Given the description of an element on the screen output the (x, y) to click on. 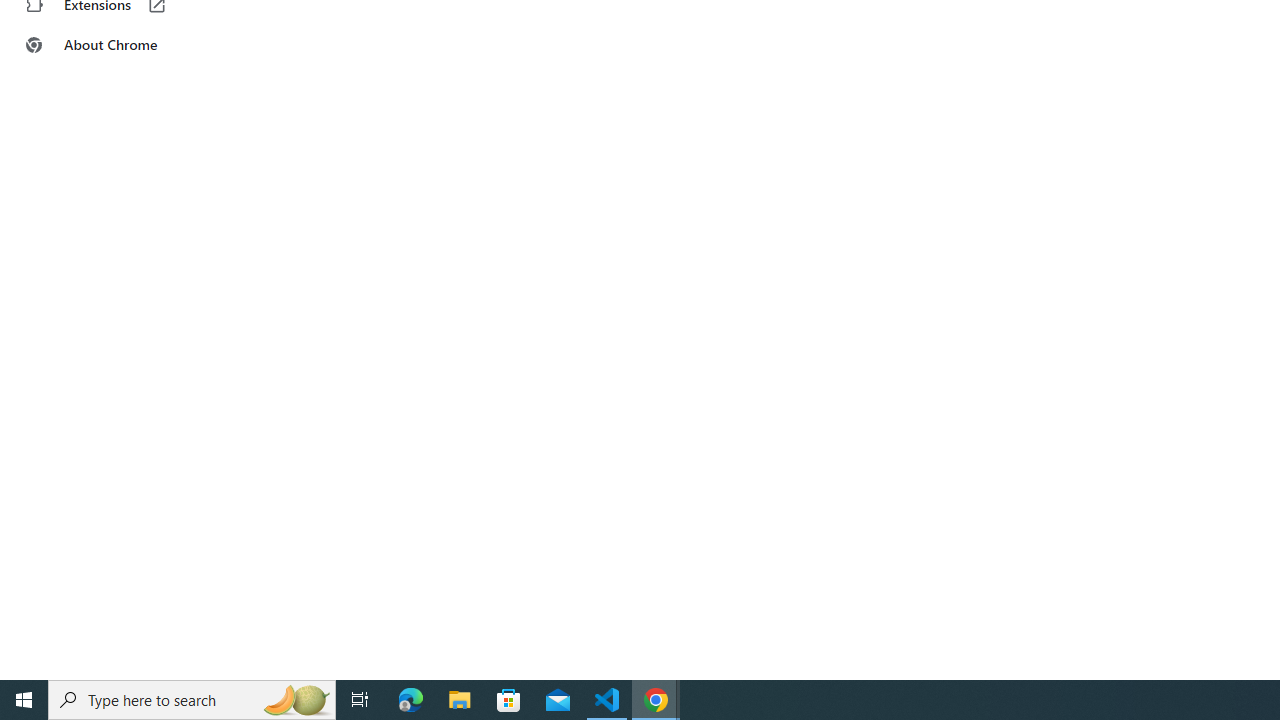
About Chrome (124, 44)
